Given the description of an element on the screen output the (x, y) to click on. 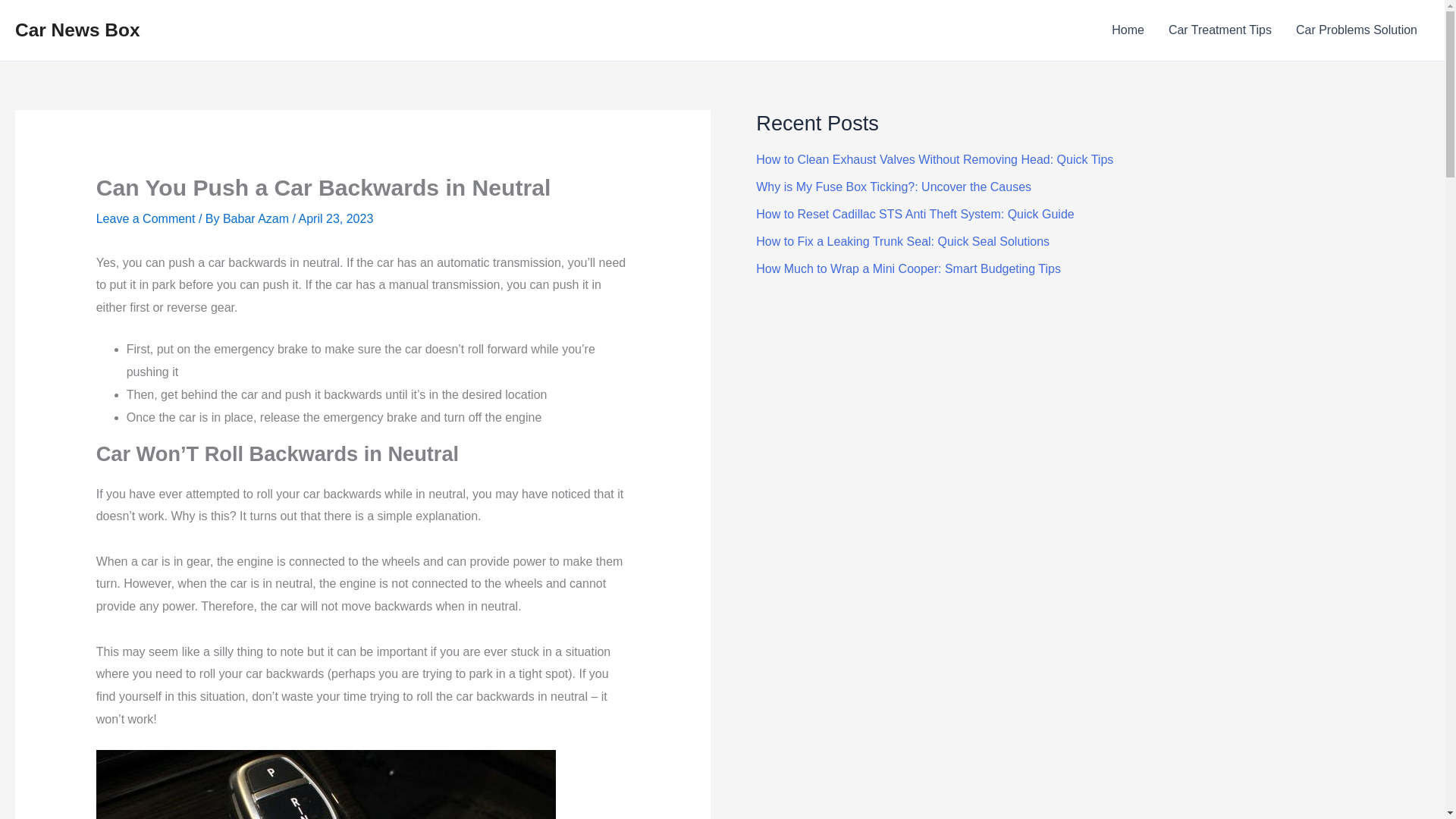
View all posts by Babar Azam (257, 218)
Car Treatment Tips (1220, 30)
Car News Box (76, 29)
Babar Azam (257, 218)
Home (1127, 30)
Car Problems Solution (1356, 30)
Leave a Comment (145, 218)
